Given the description of an element on the screen output the (x, y) to click on. 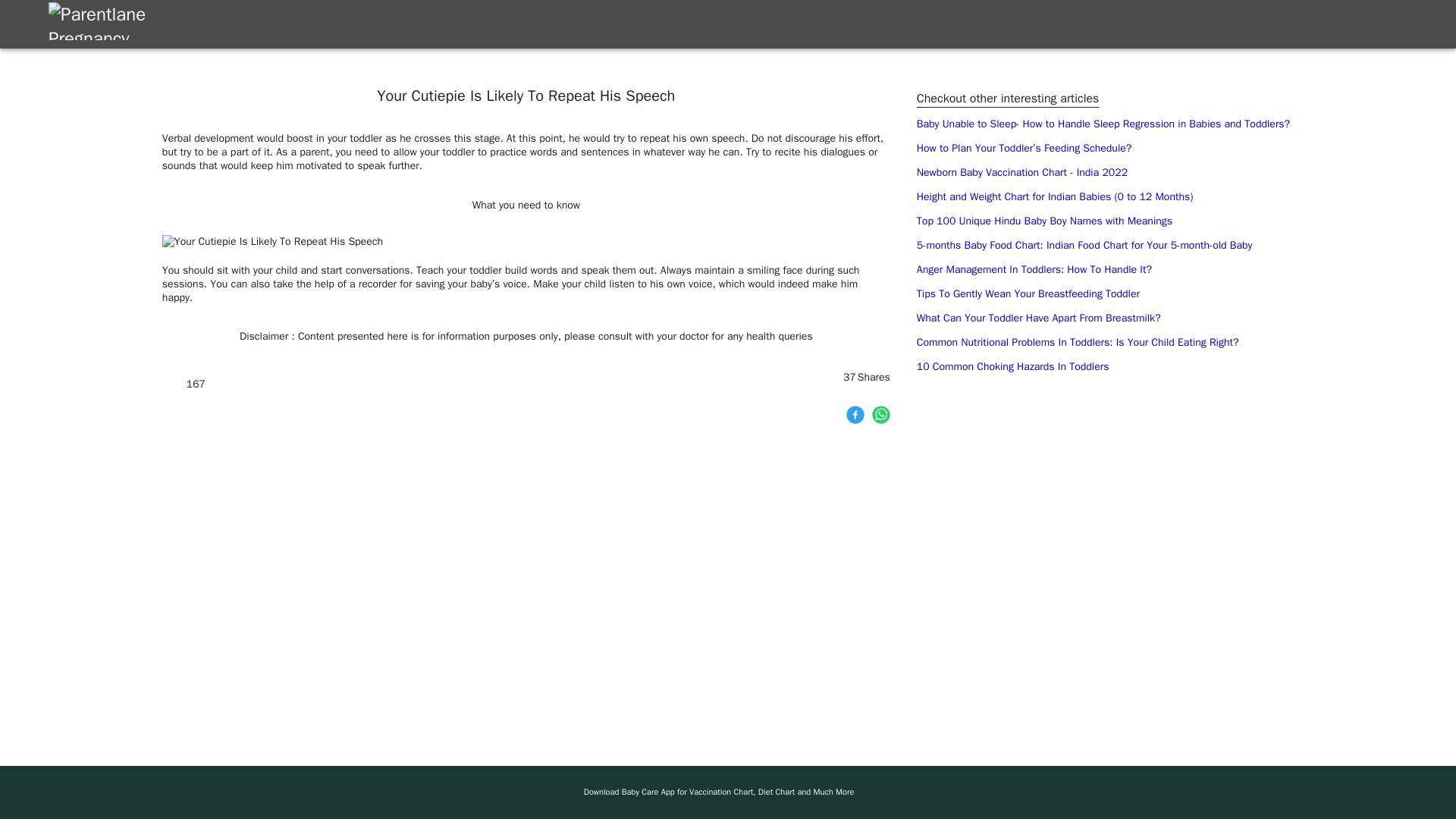
What Can Your Toddler Have Apart From Breastmilk? (1038, 318)
Anger Management In Toddlers: How To Handle It? (1034, 269)
Top 100 Unique Hindu Baby Boy Names with Meanings (1044, 220)
Tips To Gently Wean Your Breastfeeding Toddler (1028, 293)
Newborn Baby Vaccination Chart - India 2022 (1021, 172)
10 Common Choking Hazards In Toddlers (1013, 366)
